Given the description of an element on the screen output the (x, y) to click on. 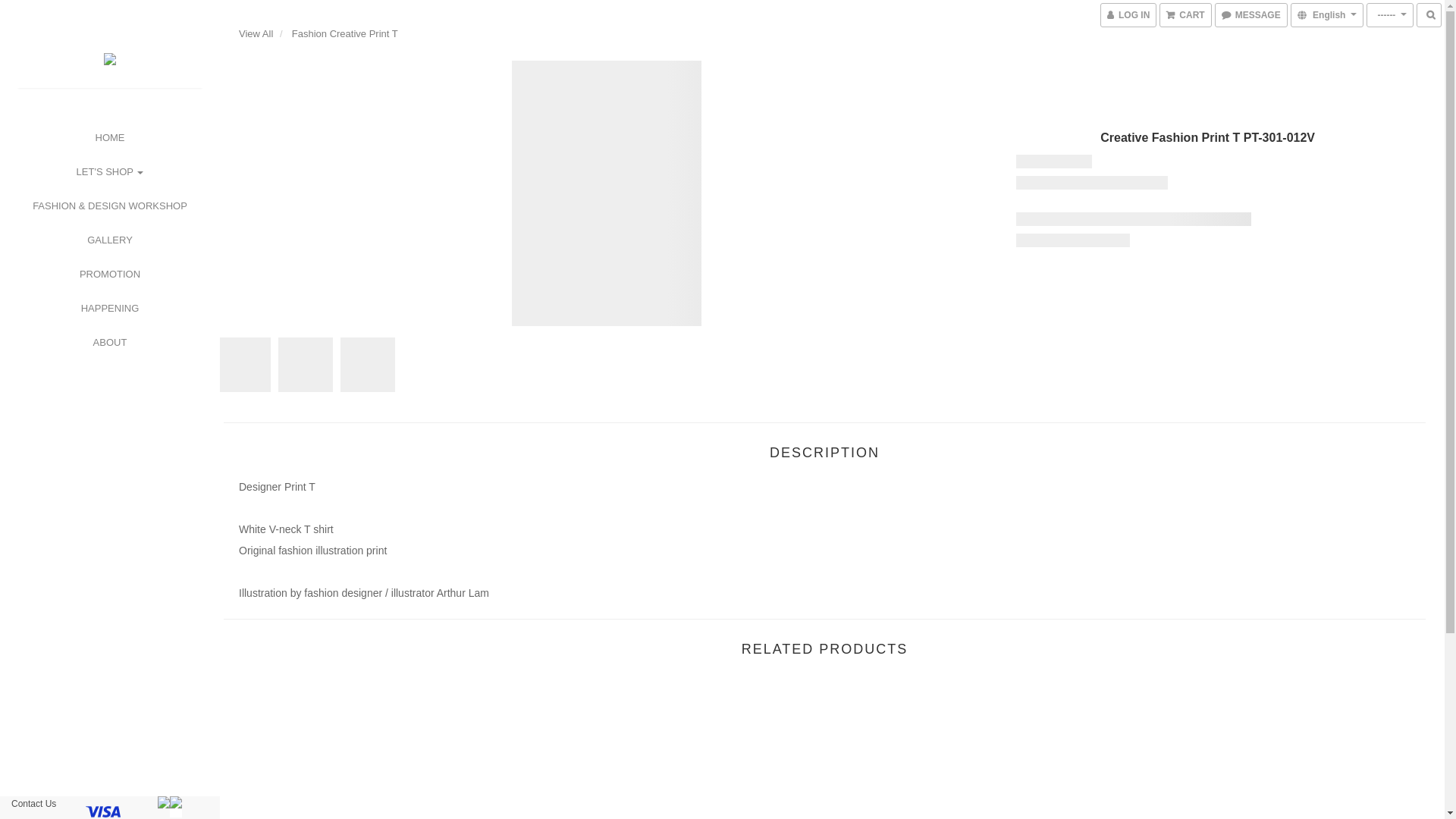
Fashion Creative Print T Element type: text (344, 33)
View All Element type: text (255, 33)
HOME Element type: text (110, 137)
GALLERY Element type: text (109, 239)
ABOUT Element type: text (110, 342)
Contact Us Element type: text (33, 803)
PROMOTION Element type: text (109, 273)
HAPPENING Element type: text (110, 307)
MESSAGE Element type: text (1250, 15)
FASHION & DESIGN WORKSHOP Element type: text (109, 205)
CART Element type: text (1185, 15)
LOG IN Element type: text (1128, 15)
LET'S SHOP Element type: text (110, 171)
